Given the description of an element on the screen output the (x, y) to click on. 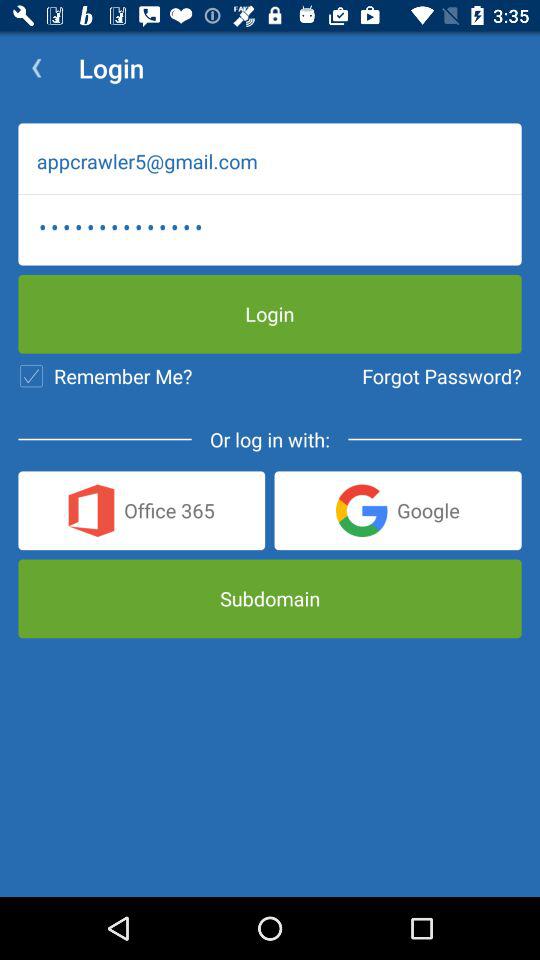
turn on the icon below appcrawler3116 (105, 376)
